Given the description of an element on the screen output the (x, y) to click on. 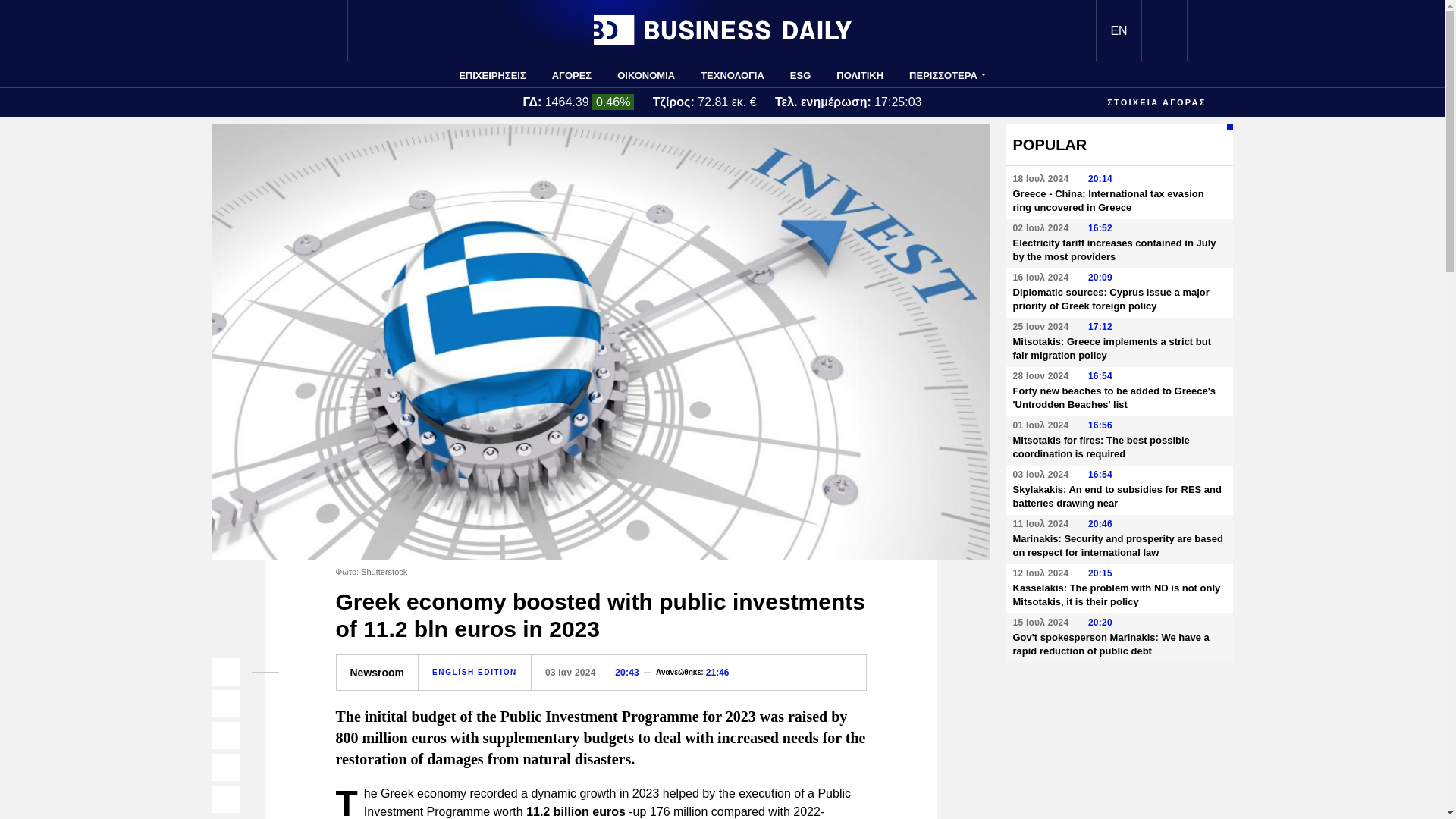
Business Daily (721, 30)
